Given the description of an element on the screen output the (x, y) to click on. 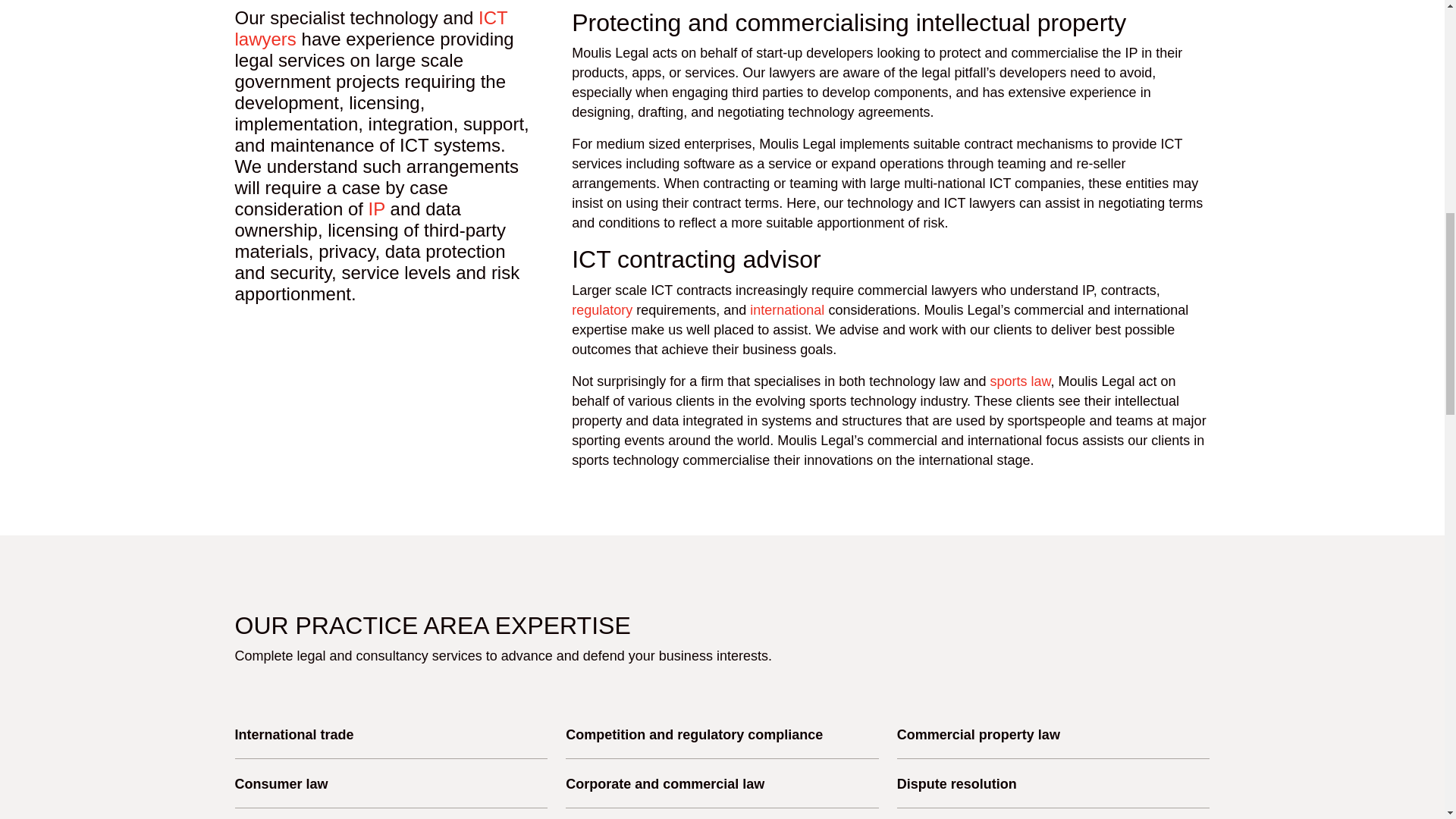
ICT lawyers (371, 28)
Sports and events lawyer (1019, 381)
sports law (1019, 381)
Competition and regulatory compliance (601, 309)
regulatory (601, 309)
International trade law (786, 309)
Technology law (371, 28)
international (786, 309)
